Given the description of an element on the screen output the (x, y) to click on. 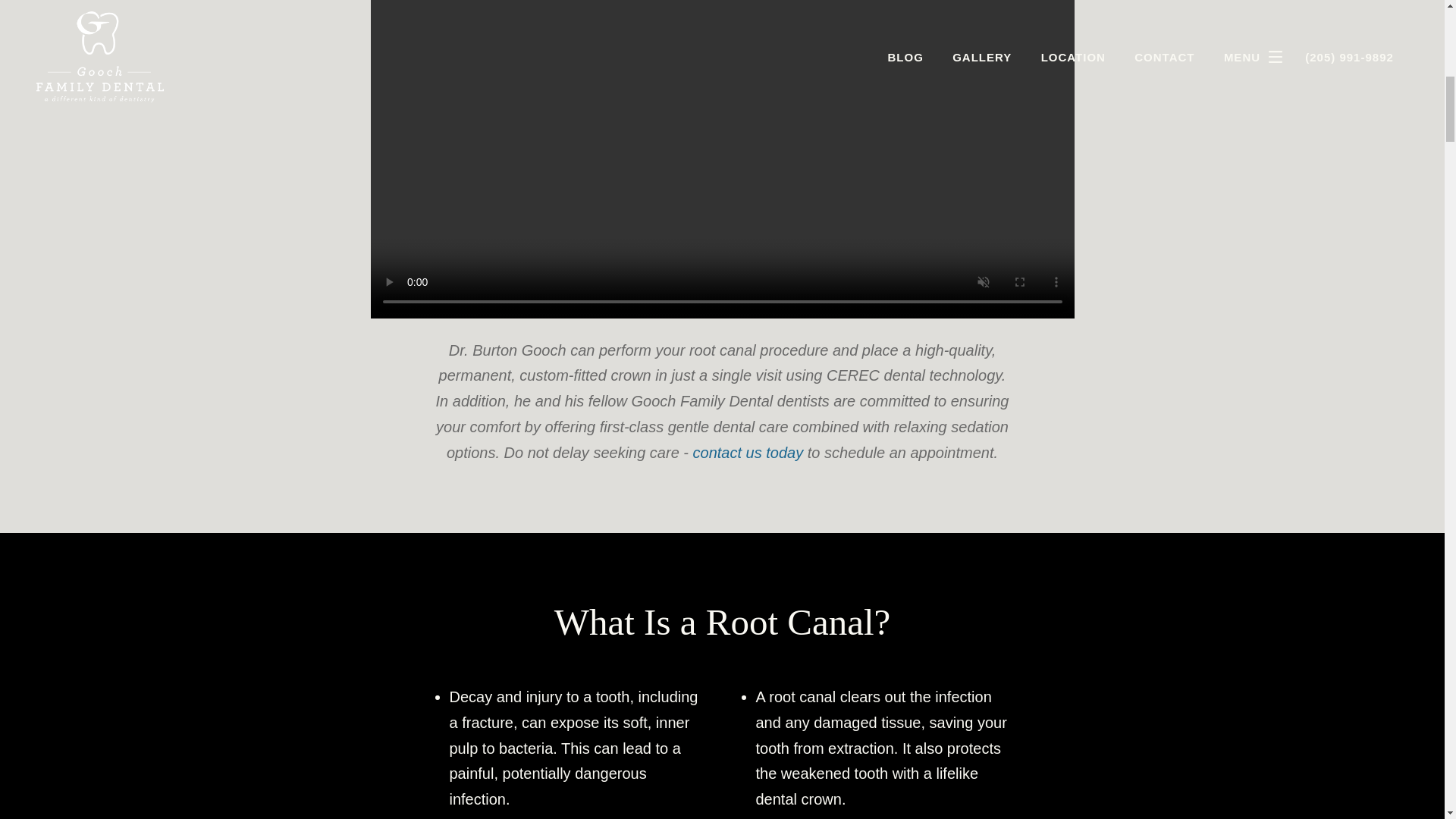
contact us today (748, 452)
